Given the description of an element on the screen output the (x, y) to click on. 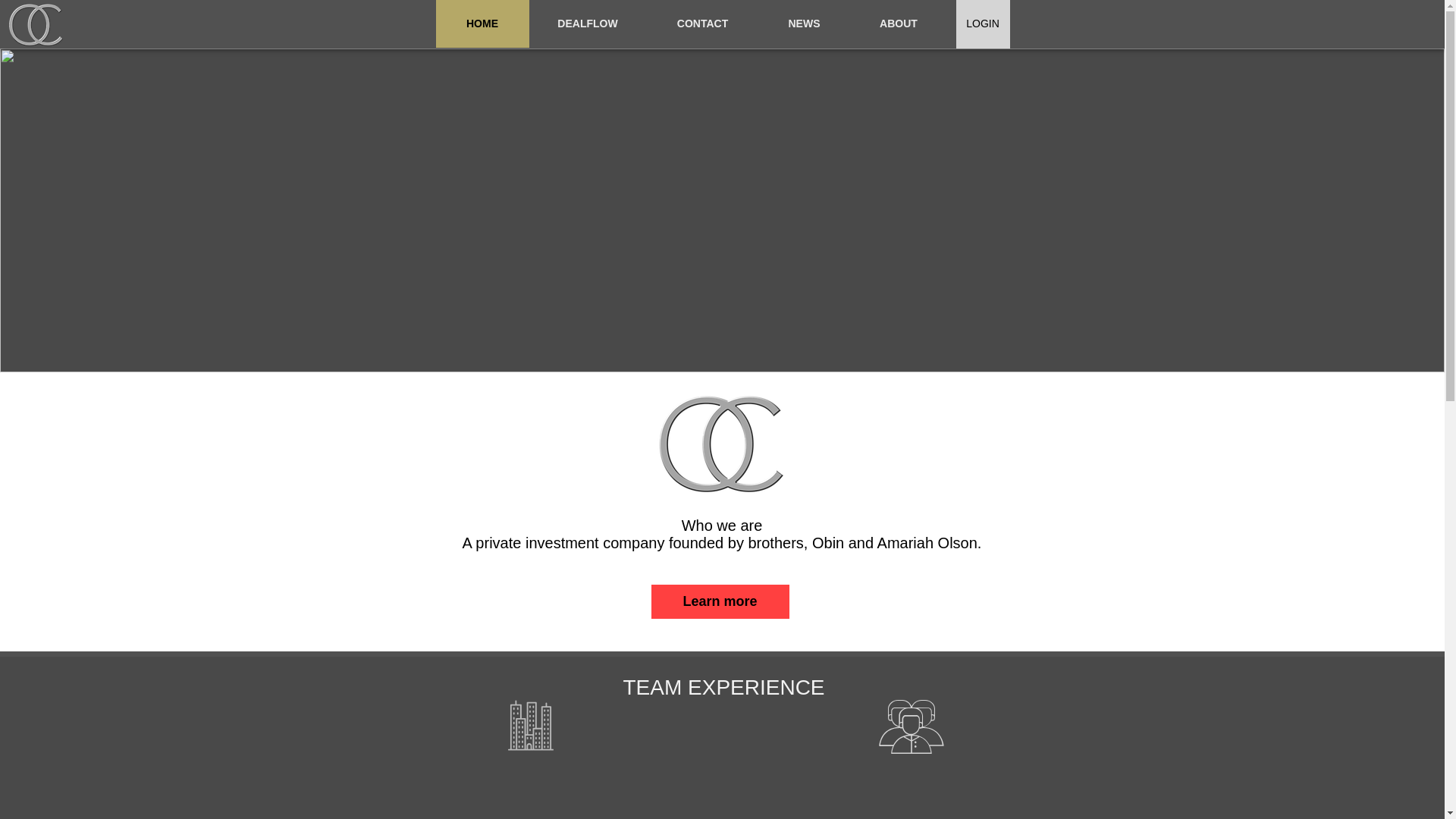
ABOUT (897, 23)
HOME (481, 23)
LOGIN (982, 24)
Learn more (719, 601)
CONTACT (702, 23)
DEALFLOW (587, 23)
NEWS (803, 23)
